Given the description of an element on the screen output the (x, y) to click on. 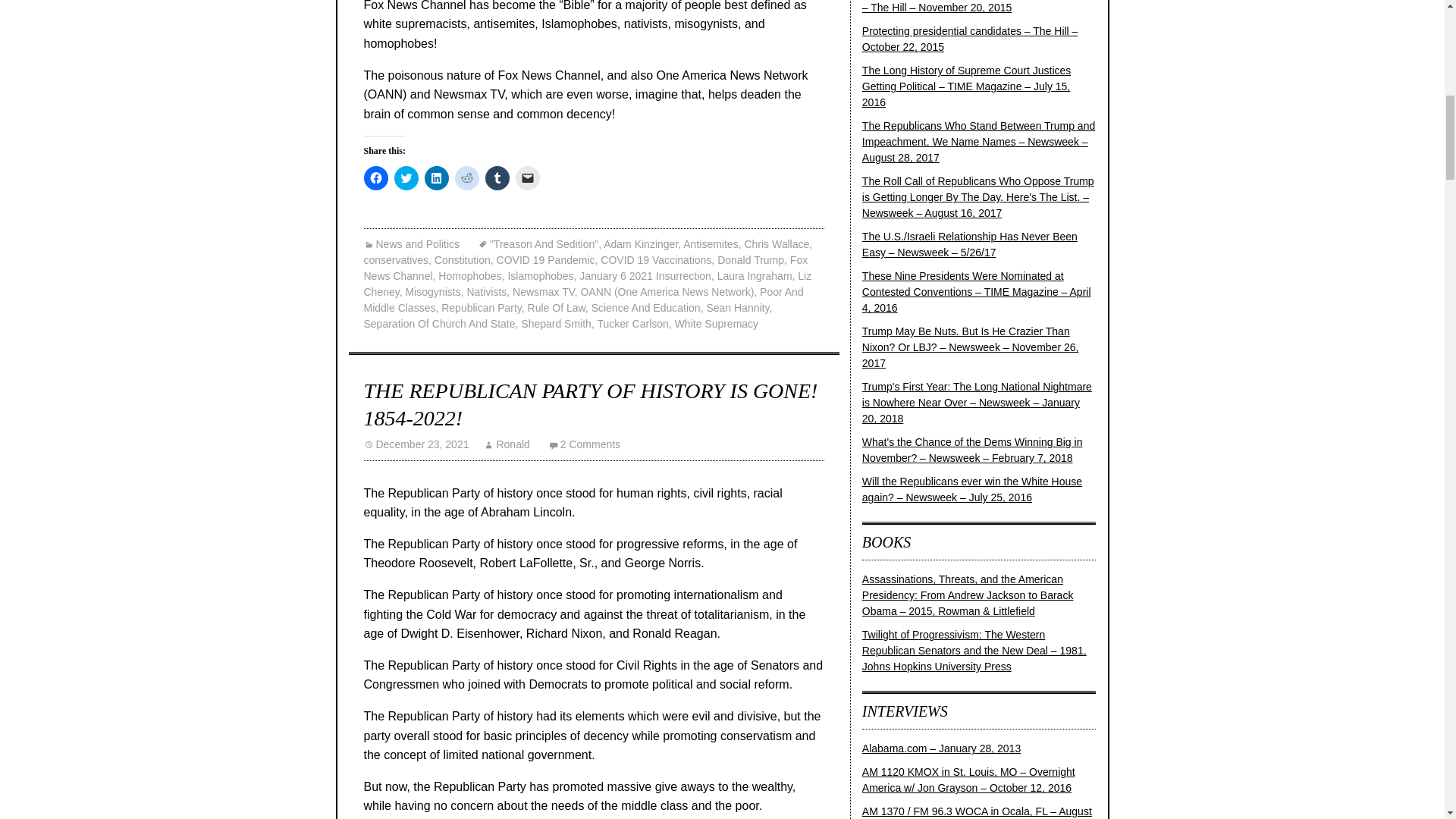
Liz Cheney (588, 284)
12:33 pm (416, 444)
COVID 19 Pandemic (545, 259)
Antisemites (710, 244)
Donald Trump (750, 259)
Republican Party (481, 307)
Poor And Middle Classes (583, 299)
Islamophobes (539, 275)
Adam Kinzinger (641, 244)
Misogynists (432, 291)
Homophobes (469, 275)
Click to share on Twitter (406, 178)
COVID 19 Vaccinations (655, 259)
Newsmax TV (543, 291)
Nativists (485, 291)
